Given the description of an element on the screen output the (x, y) to click on. 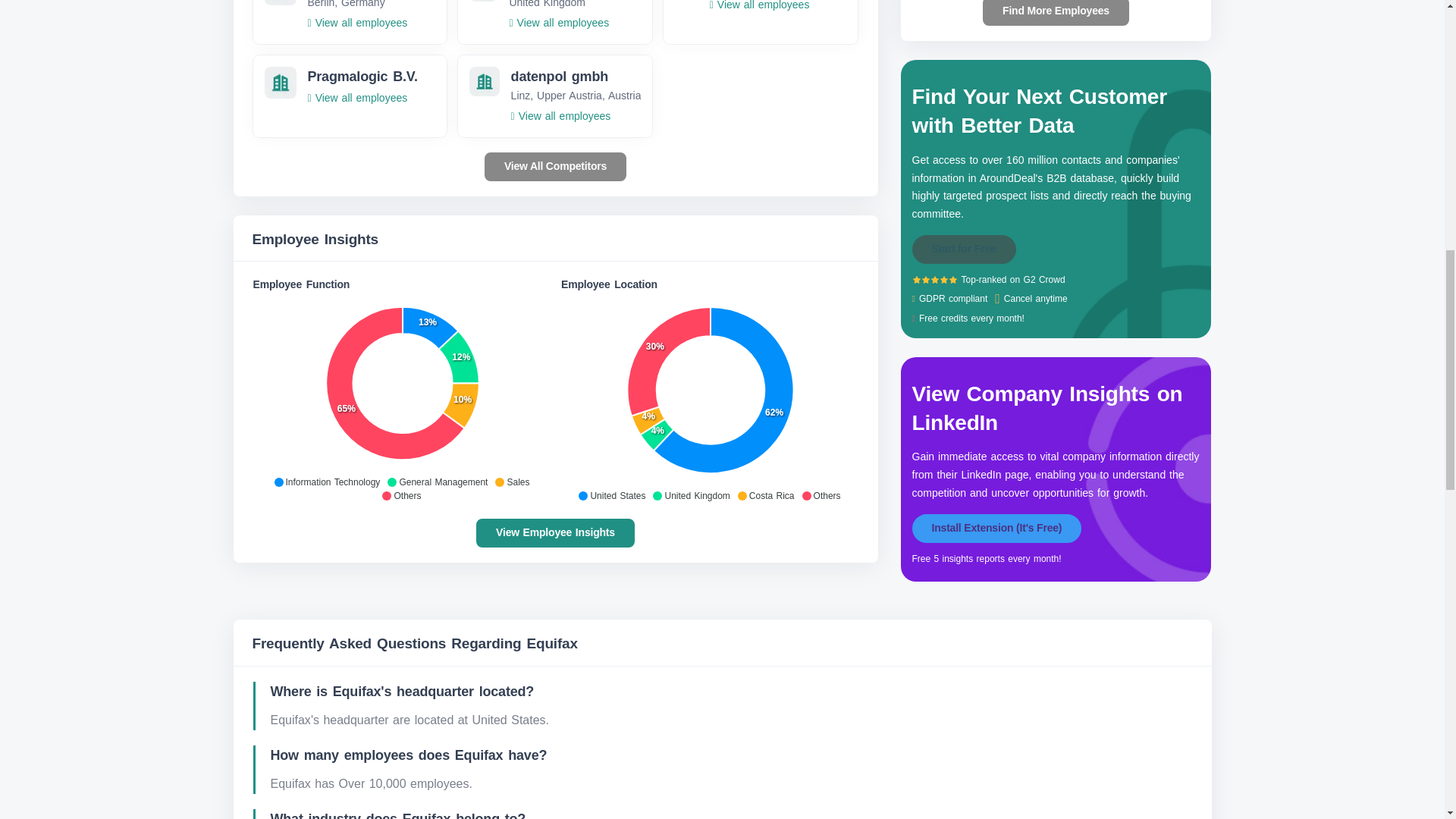
View all employees (759, 5)
View all employees (558, 22)
View all employees (357, 22)
